Given the description of an element on the screen output the (x, y) to click on. 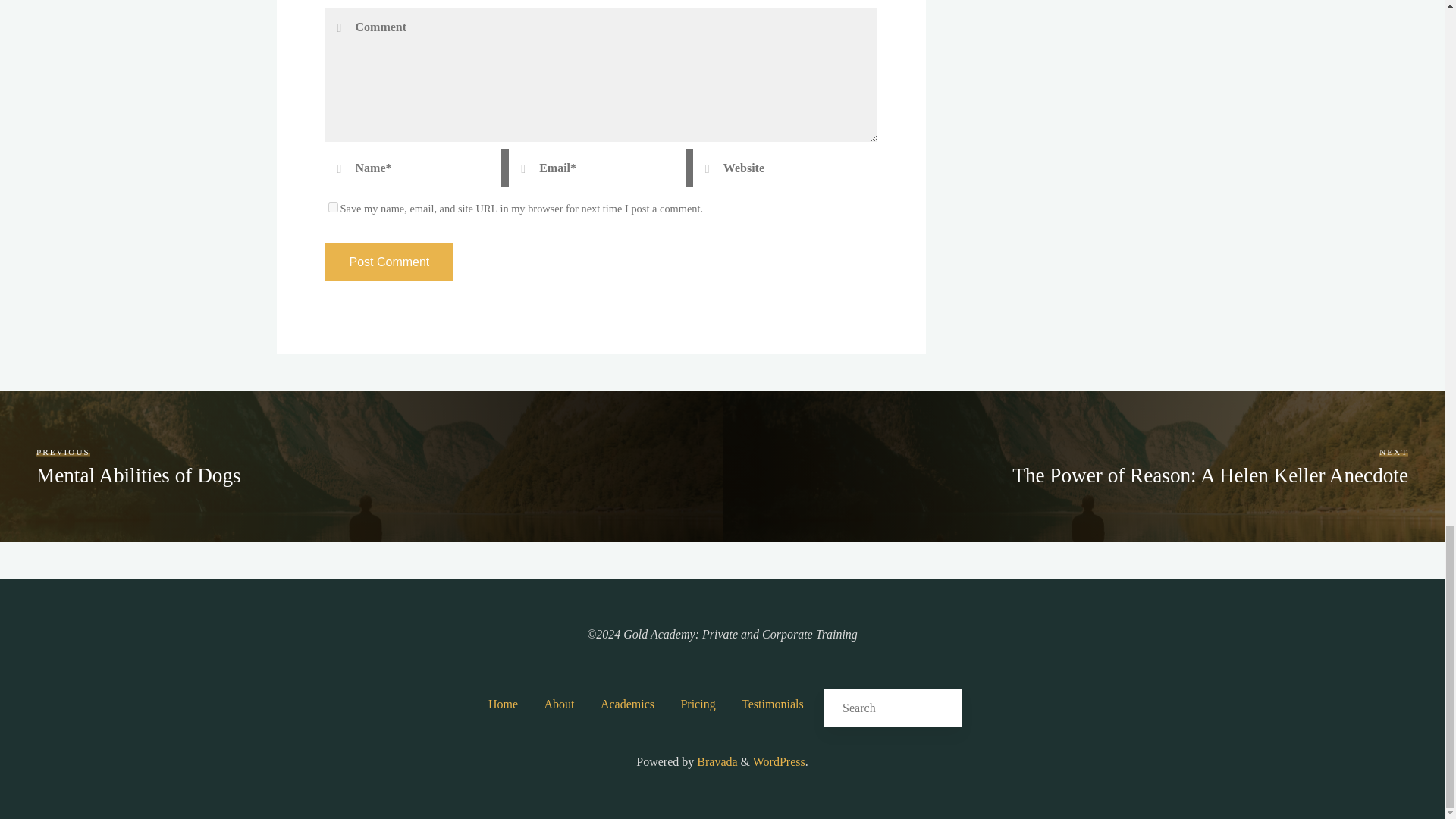
yes (332, 207)
Semantic Personal Publishing Platform (778, 761)
Post Comment (388, 262)
Bravada WordPress Theme by Cryout Creations (715, 761)
